Given the description of an element on the screen output the (x, y) to click on. 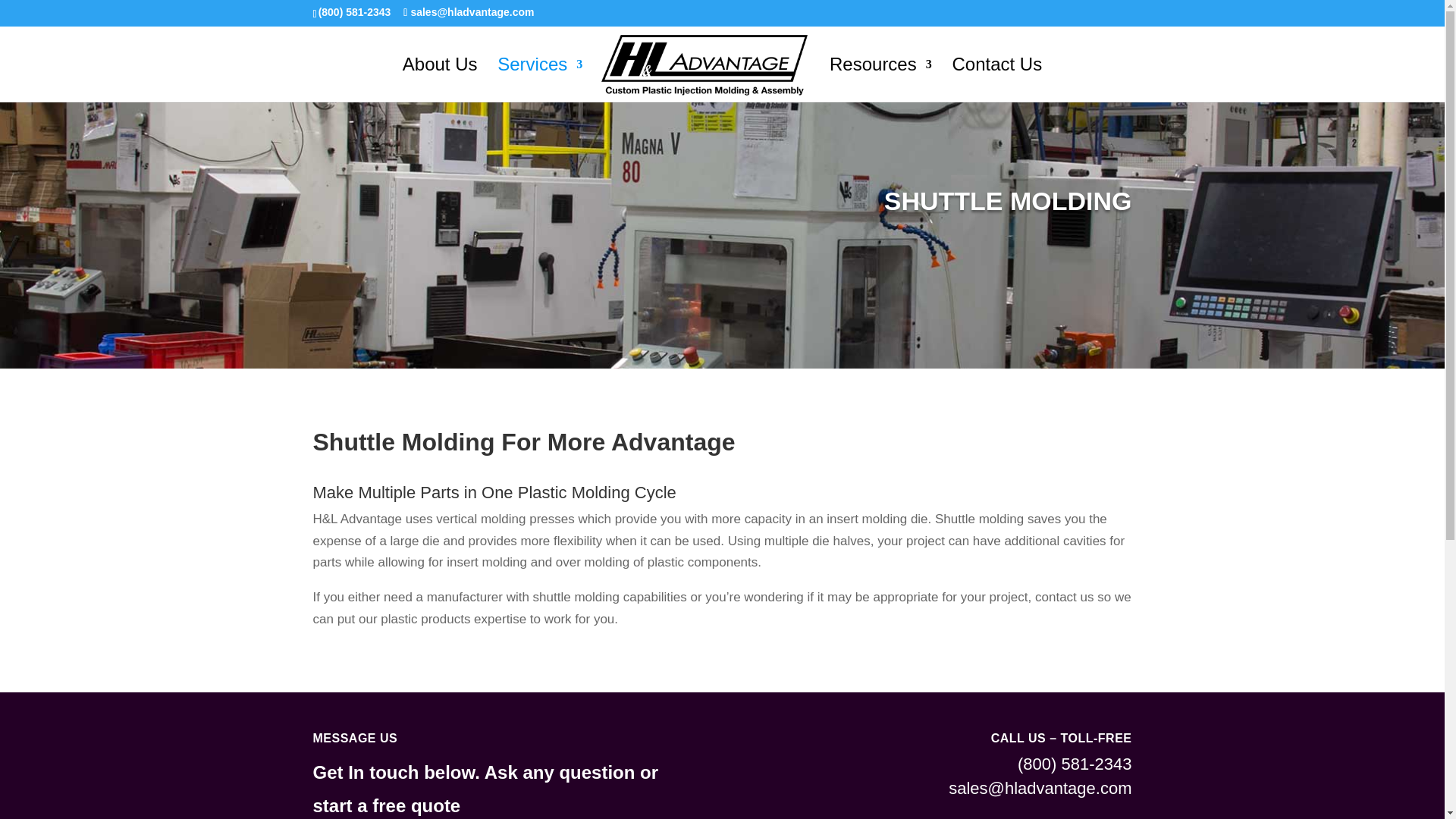
Contact Us (997, 80)
Resources (880, 80)
About Us (440, 80)
Services (539, 80)
